Given the description of an element on the screen output the (x, y) to click on. 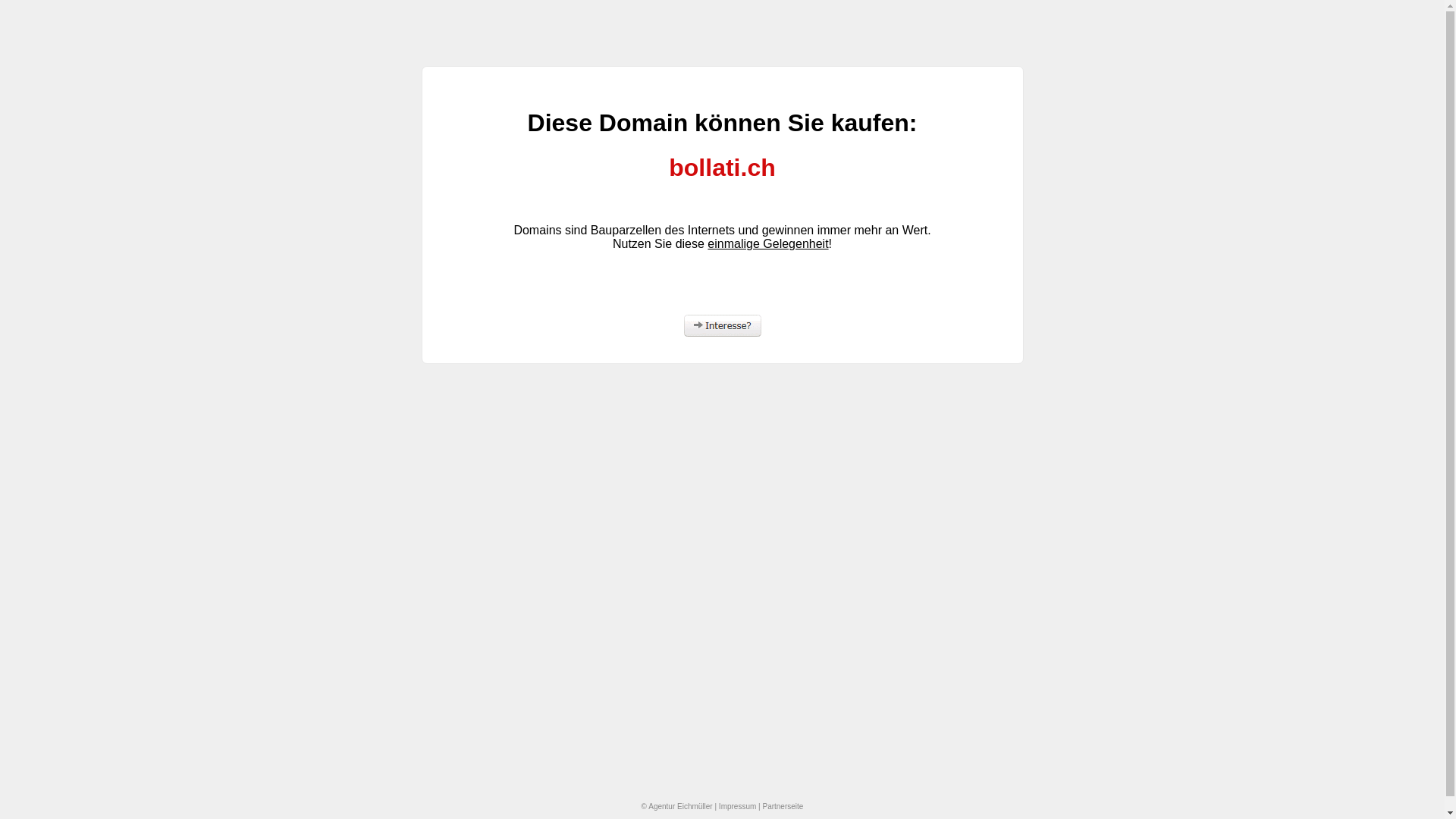
Impressum Element type: text (737, 806)
Partnerseite Element type: text (782, 806)
bollati.ch Element type: text (721, 167)
